Given the description of an element on the screen output the (x, y) to click on. 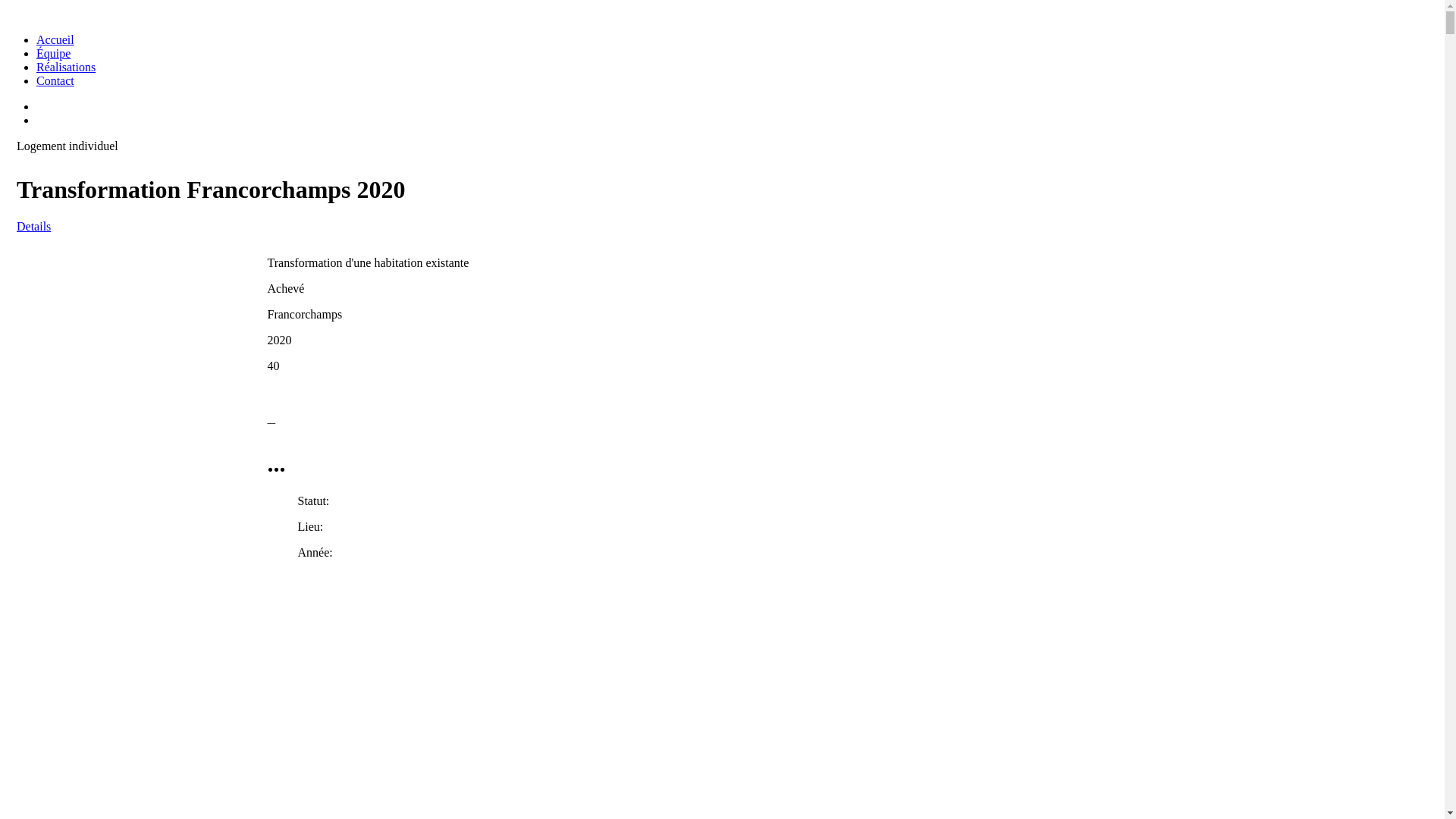
Details Element type: text (33, 225)
Accueil Element type: text (55, 39)
Contact Element type: text (55, 80)
